Given the description of an element on the screen output the (x, y) to click on. 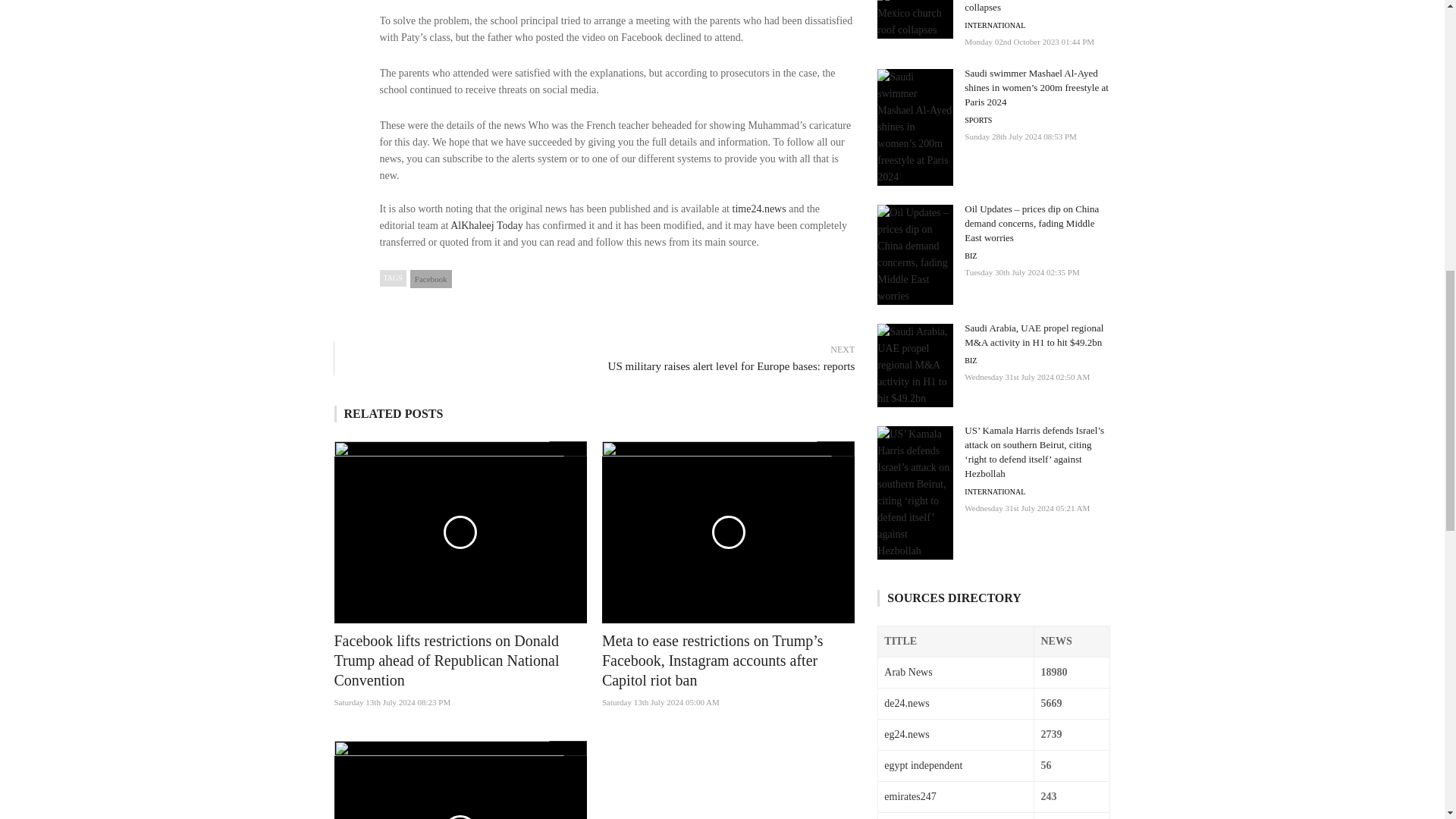
AlKhaleej Today (485, 225)
time24.news (759, 208)
Facebook (430, 279)
US military raises alert level for Europe bases: reports (601, 366)
